Given the description of an element on the screen output the (x, y) to click on. 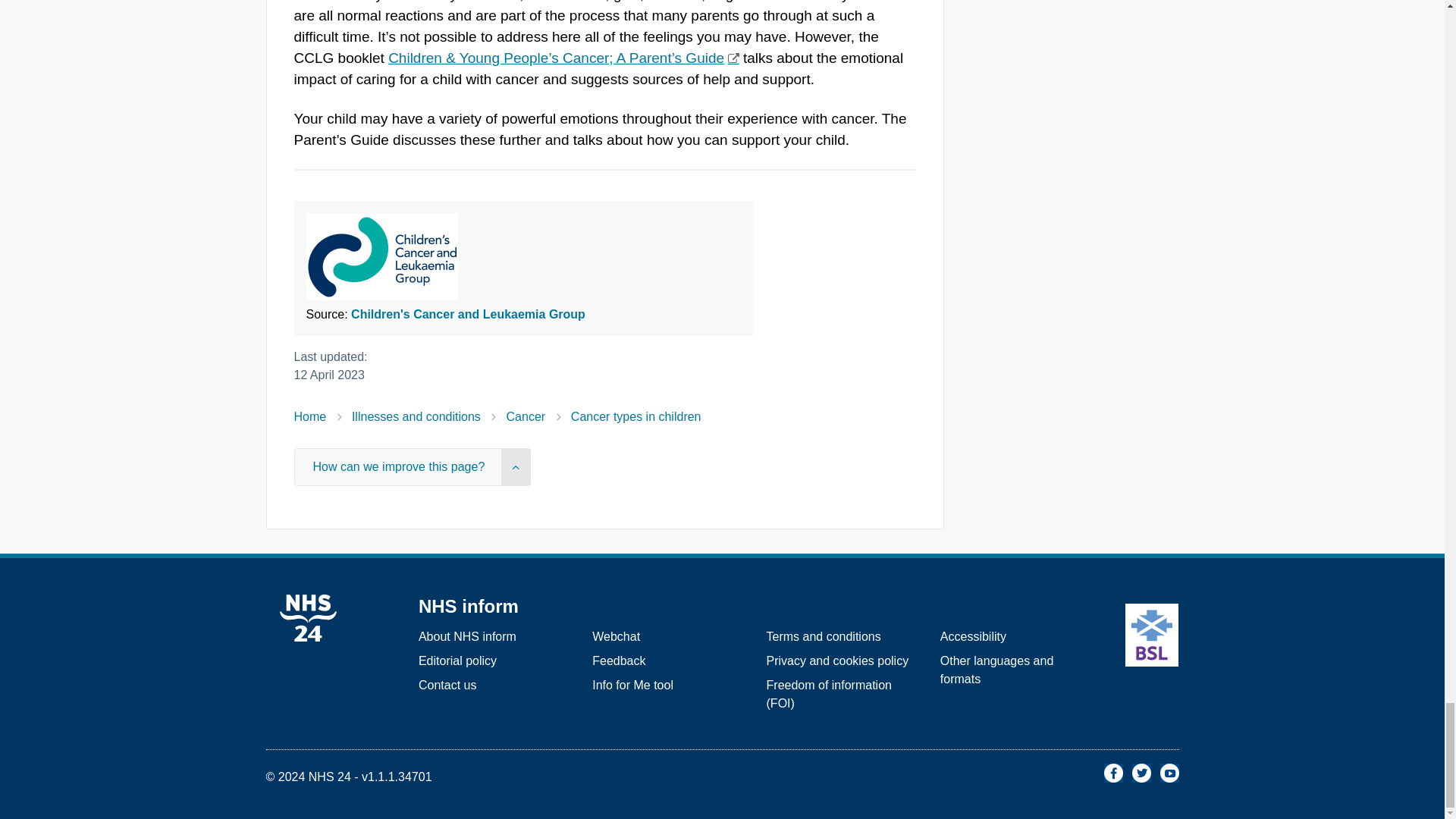
Cancer (526, 416)
Cancer types in children (635, 416)
How can we improve this page? (412, 466)
Home (310, 416)
Illnesses and conditions (416, 416)
Click here to navigate to the 'About NHS inform' page. (467, 635)
Children's Cancer and Leukaemia Group (467, 314)
CCLG (563, 57)
